Given the description of an element on the screen output the (x, y) to click on. 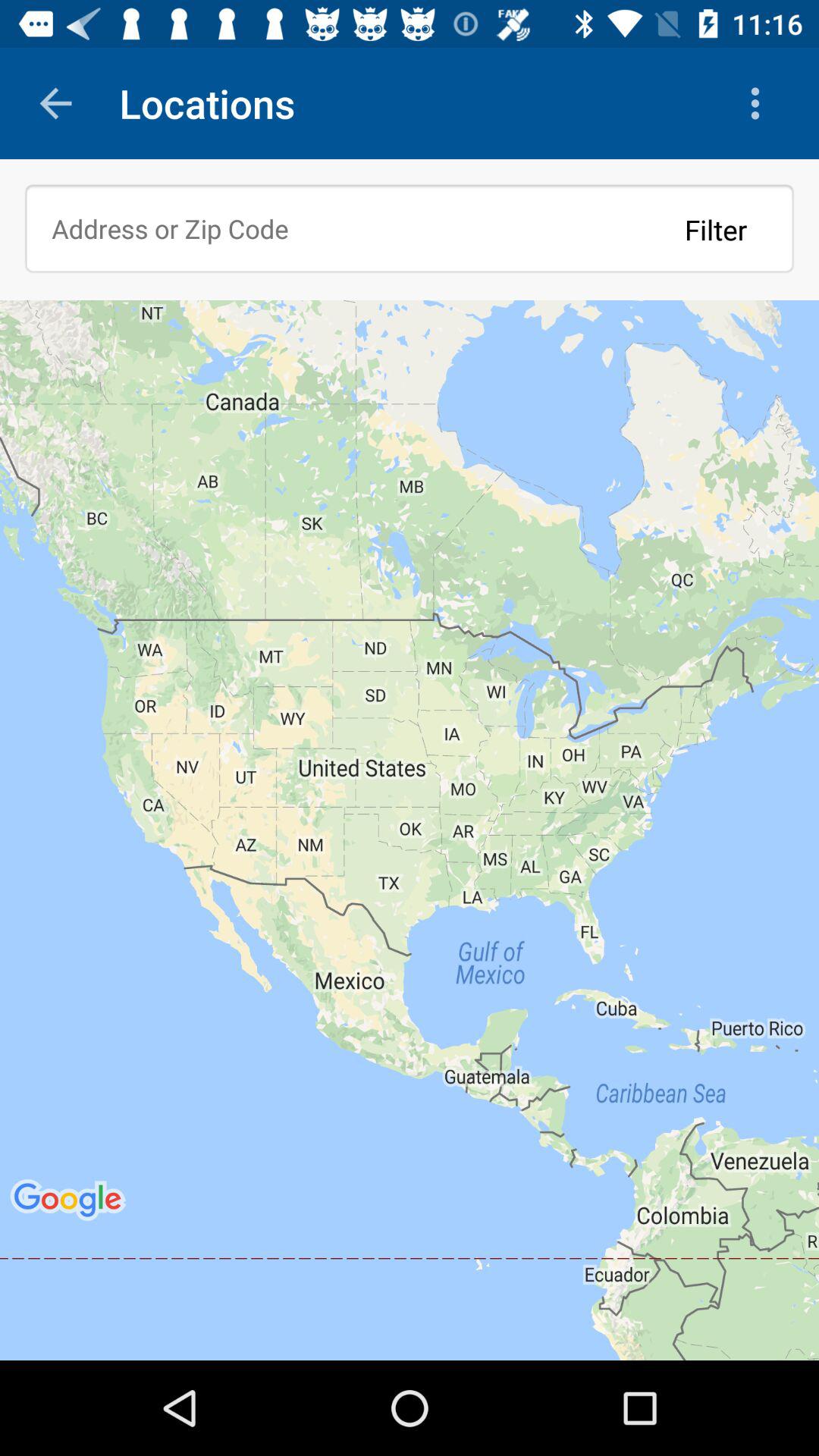
open the item at the center (409, 830)
